Given the description of an element on the screen output the (x, y) to click on. 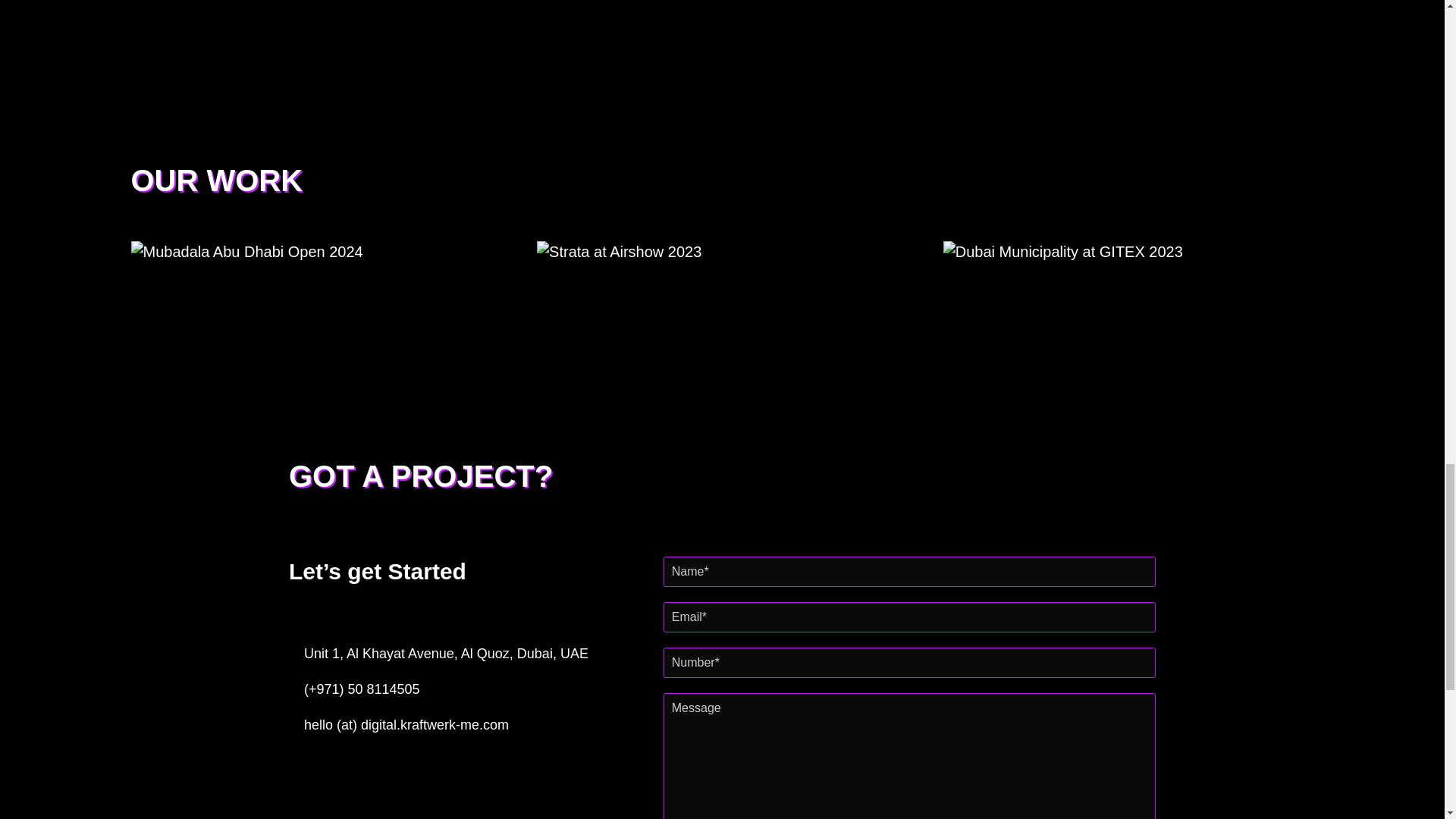
Strata at Airshow 2023 (755, 415)
Mubadala Abu Dhabi Open 2024 (315, 415)
read more (1275, 430)
read more (869, 430)
Dubai Municipality at GITEX 2023 (1104, 428)
read more (462, 430)
